Given the description of an element on the screen output the (x, y) to click on. 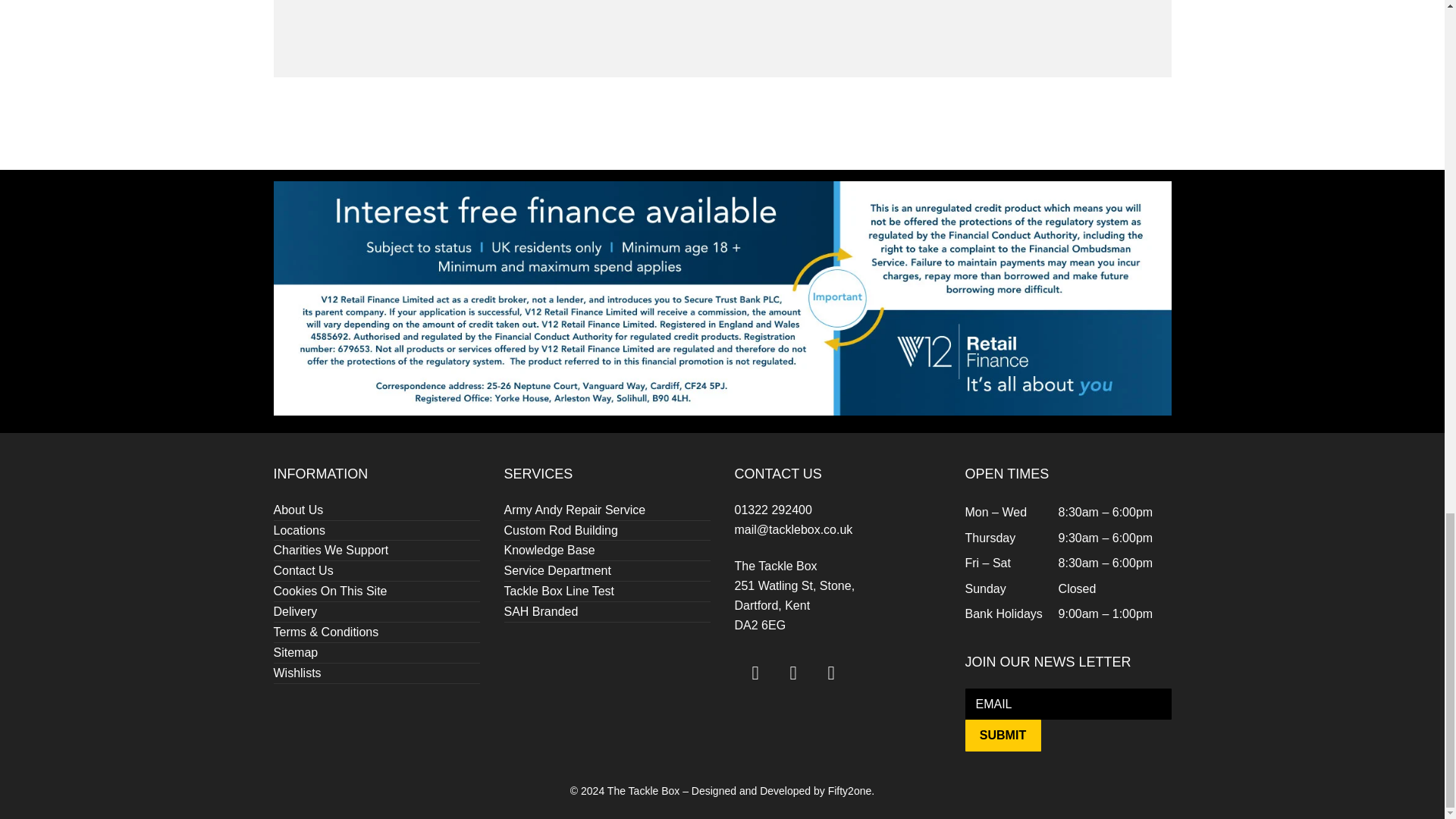
Submit (1002, 735)
